Given the description of an element on the screen output the (x, y) to click on. 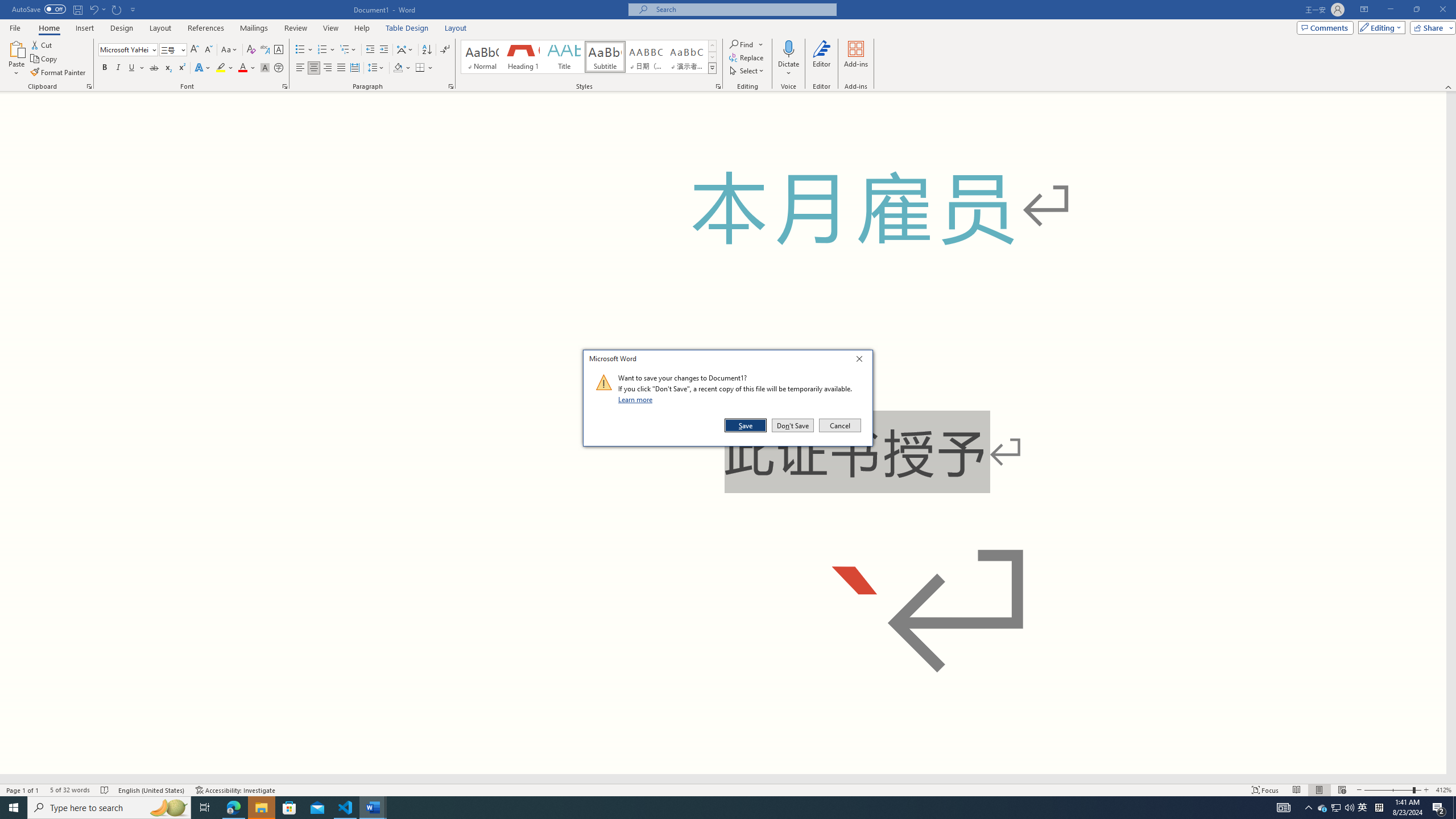
Cancel (839, 425)
